Given the description of an element on the screen output the (x, y) to click on. 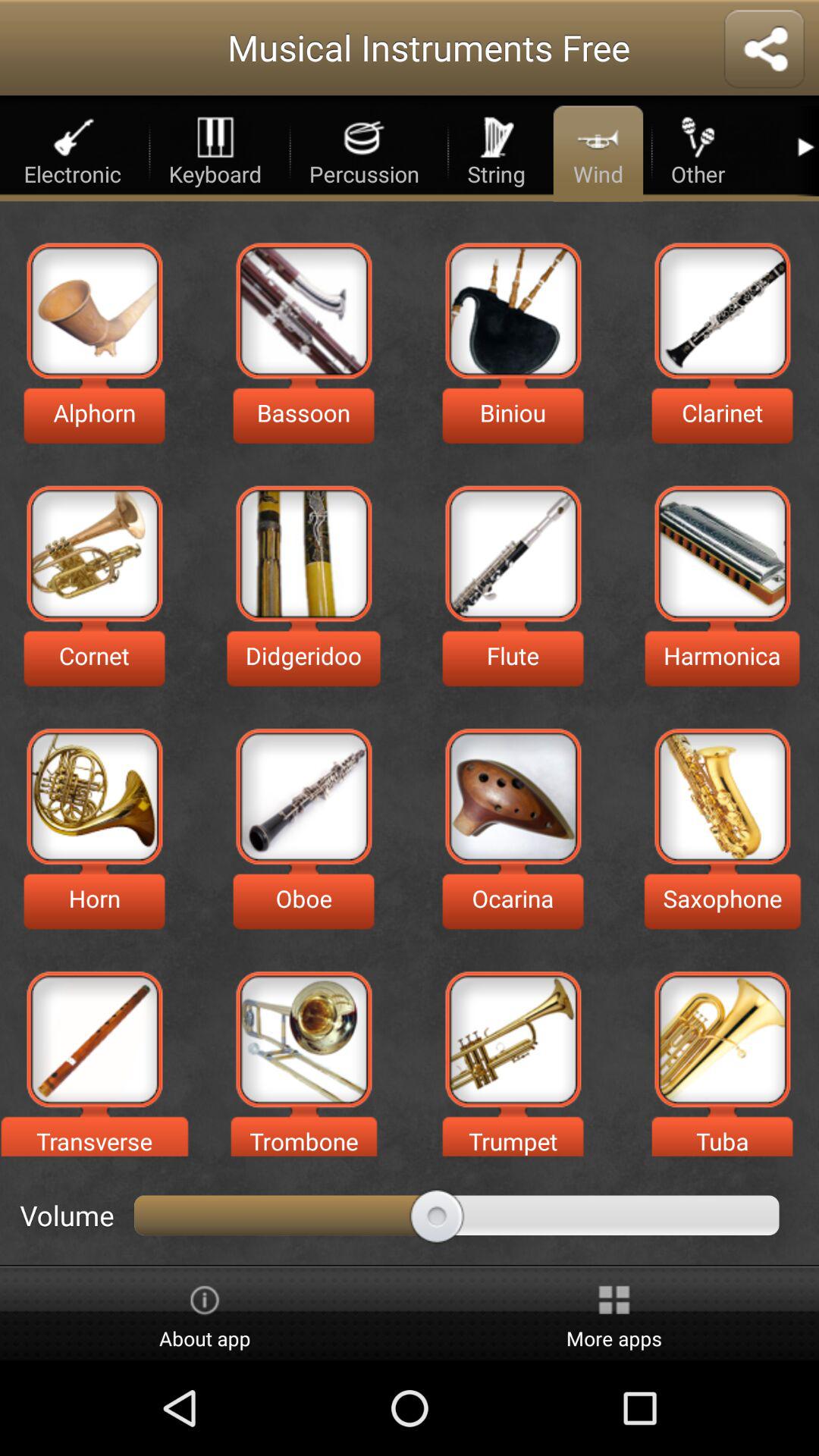
play horn sound (94, 796)
